Given the description of an element on the screen output the (x, y) to click on. 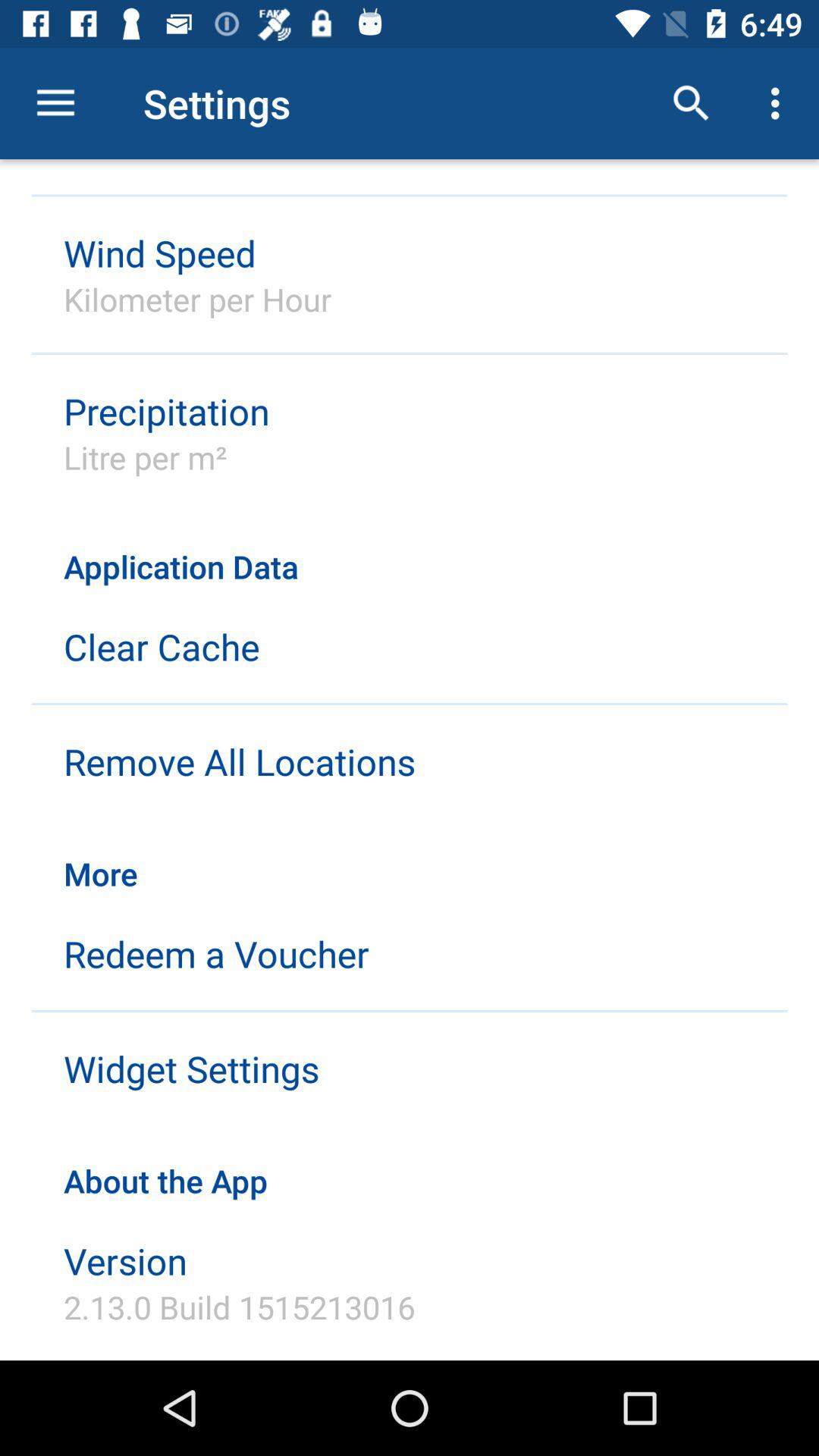
tap the icon above application data item (691, 103)
